Given the description of an element on the screen output the (x, y) to click on. 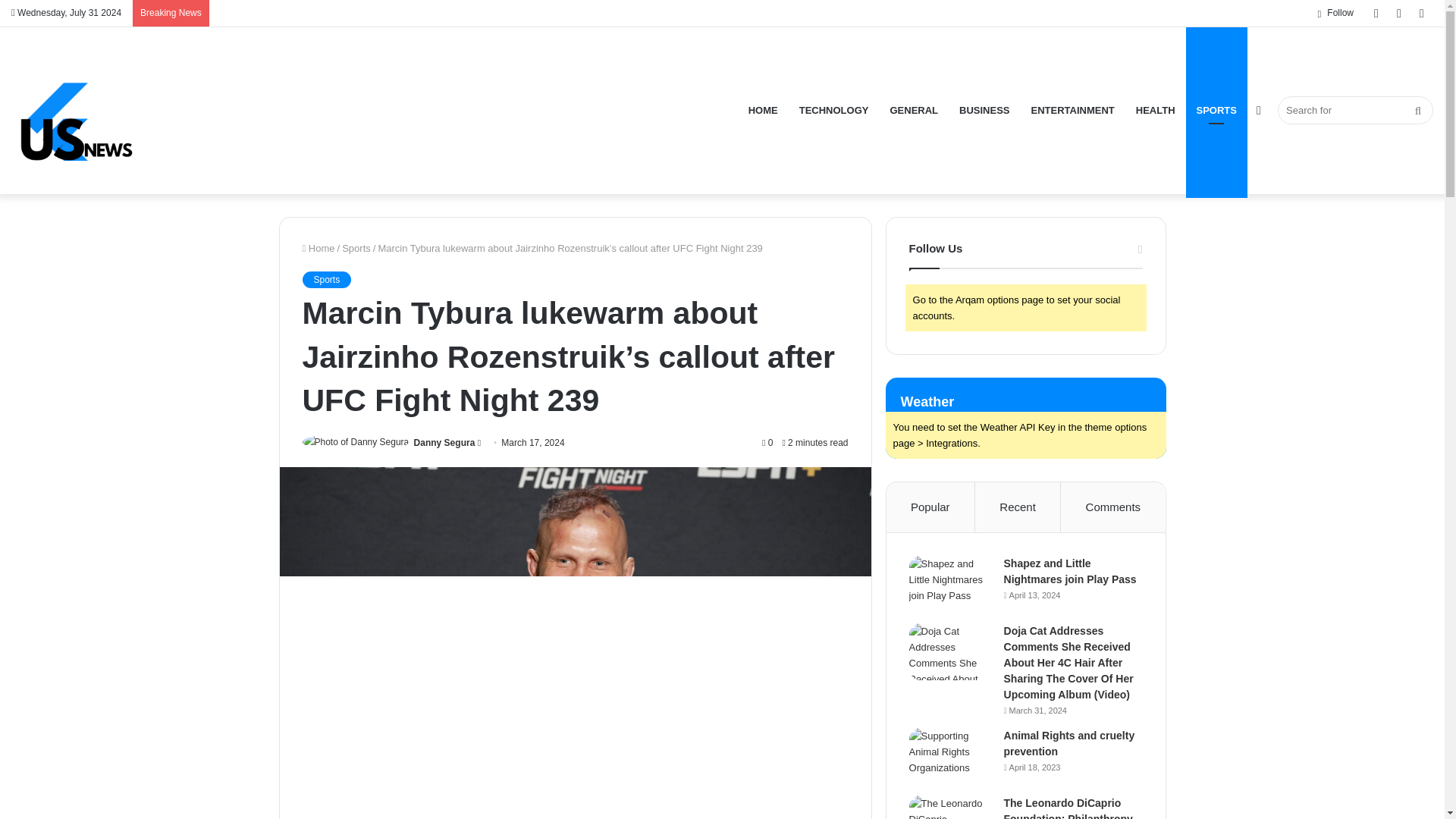
Sports (325, 279)
US News (79, 110)
Sports (356, 247)
Danny Segura (444, 442)
Home (317, 247)
Search for (1355, 110)
Follow (1335, 13)
Danny Segura (444, 442)
